Given the description of an element on the screen output the (x, y) to click on. 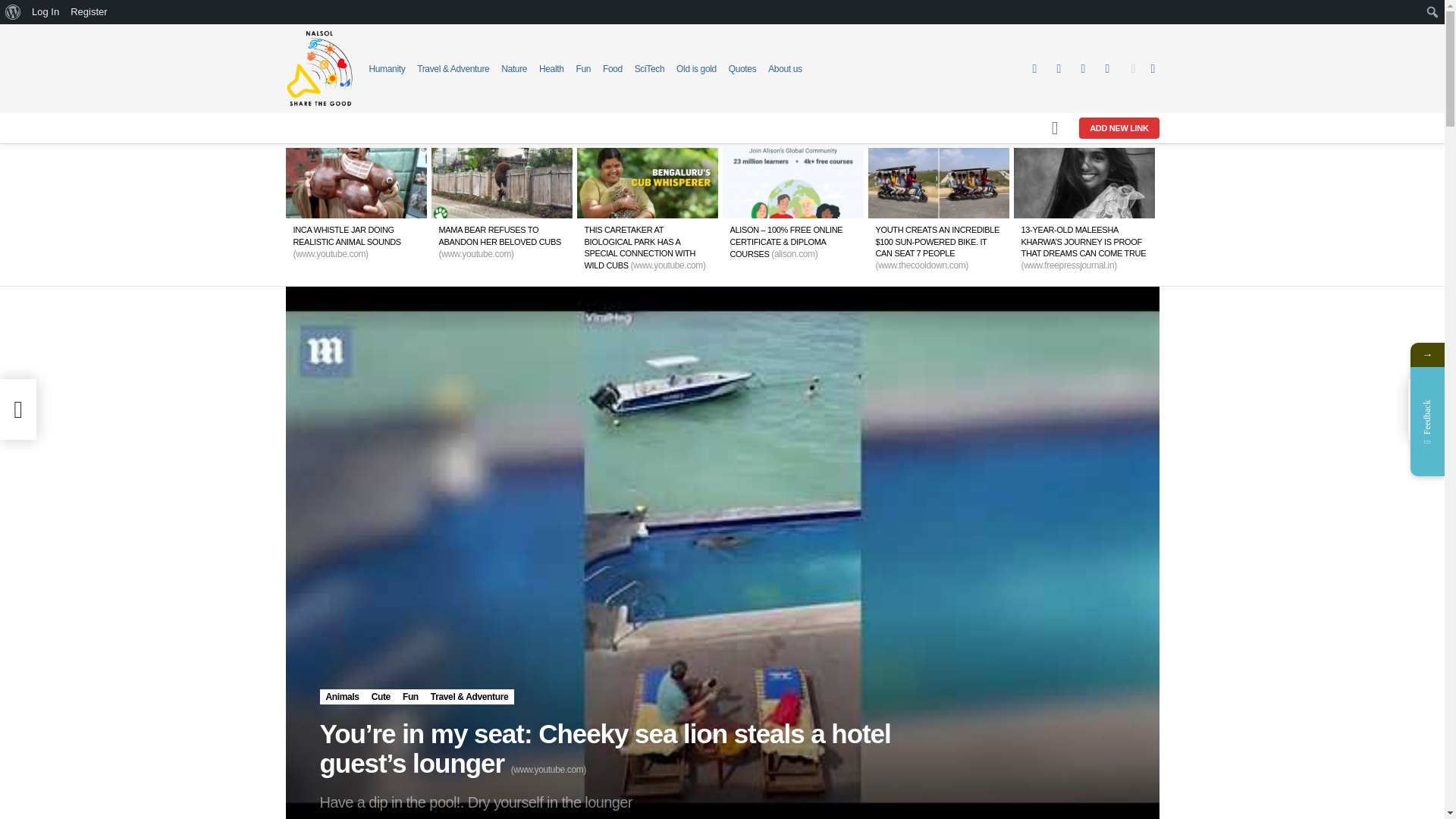
Nature (513, 68)
Humanity (386, 68)
About us (785, 68)
youtube (1106, 68)
twitter (1058, 68)
Old is gold (696, 68)
Health (551, 68)
facebook (1034, 68)
Quotes (743, 68)
